Given the description of an element on the screen output the (x, y) to click on. 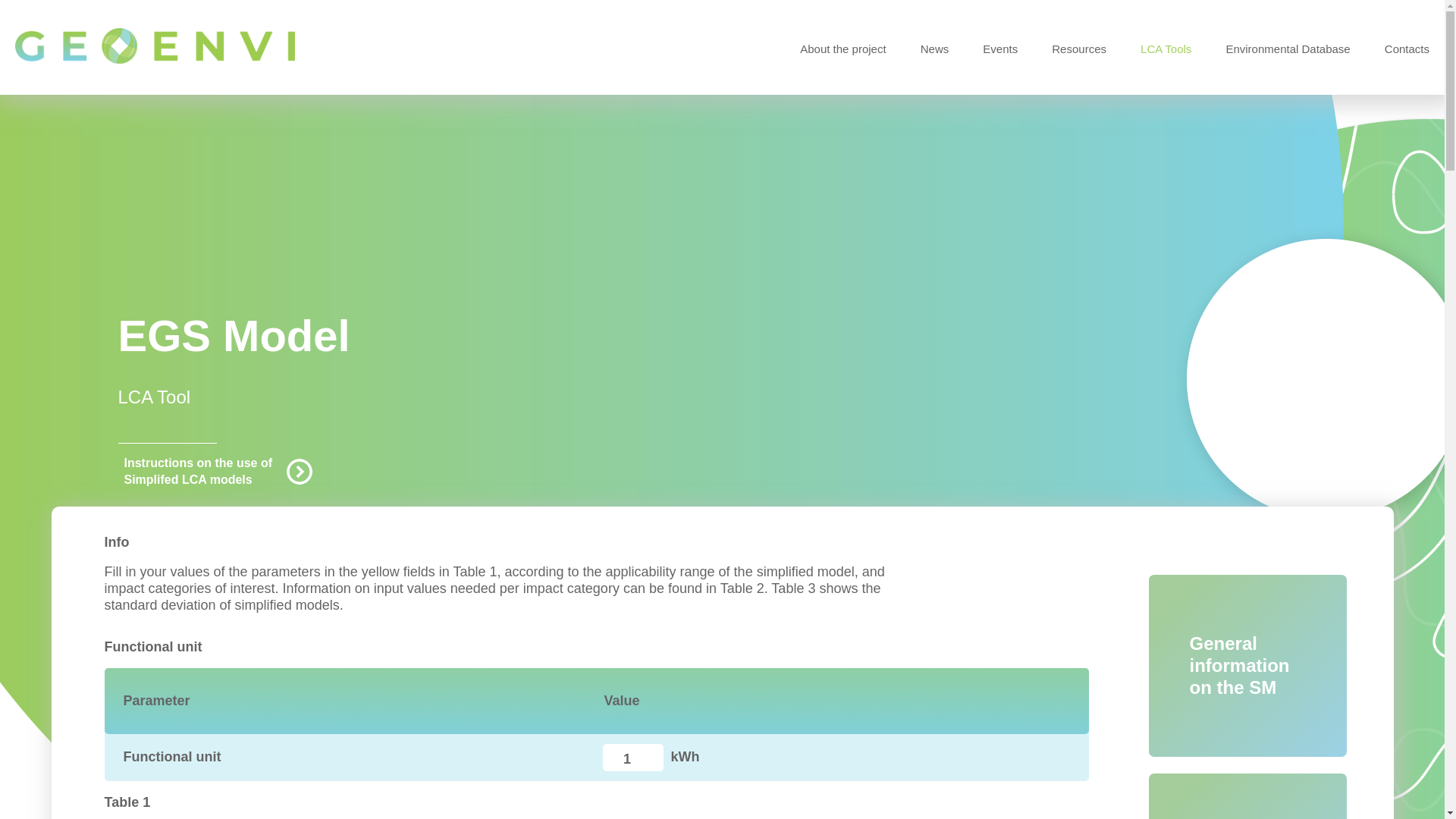
Resources (1078, 49)
Contacts (1406, 49)
Events (999, 49)
Environmental Database (1287, 49)
About the project (842, 49)
1 (632, 757)
News (934, 49)
LCA Tools (1165, 49)
